Given the description of an element on the screen output the (x, y) to click on. 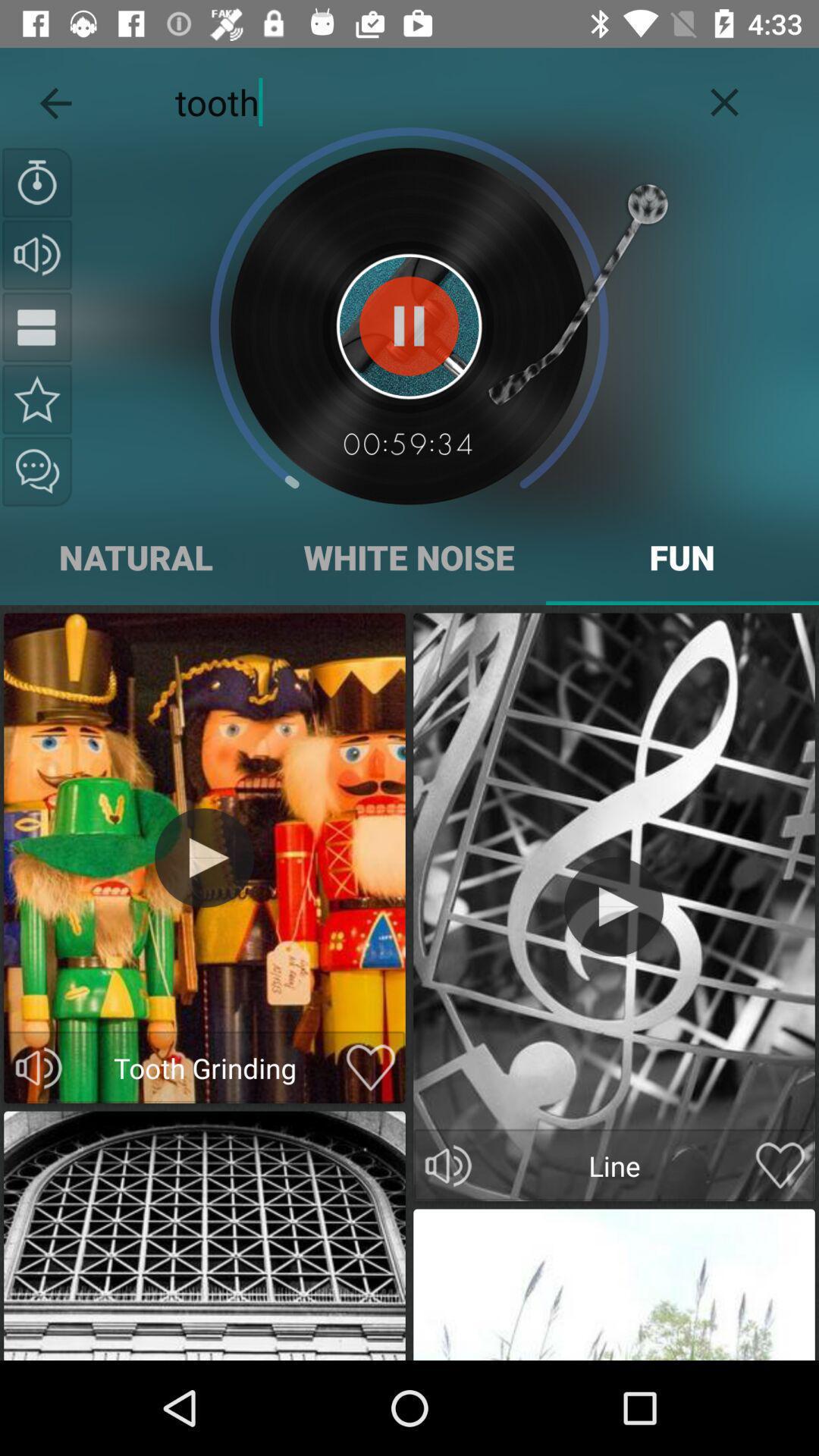
go to timer (37, 182)
